Given the description of an element on the screen output the (x, y) to click on. 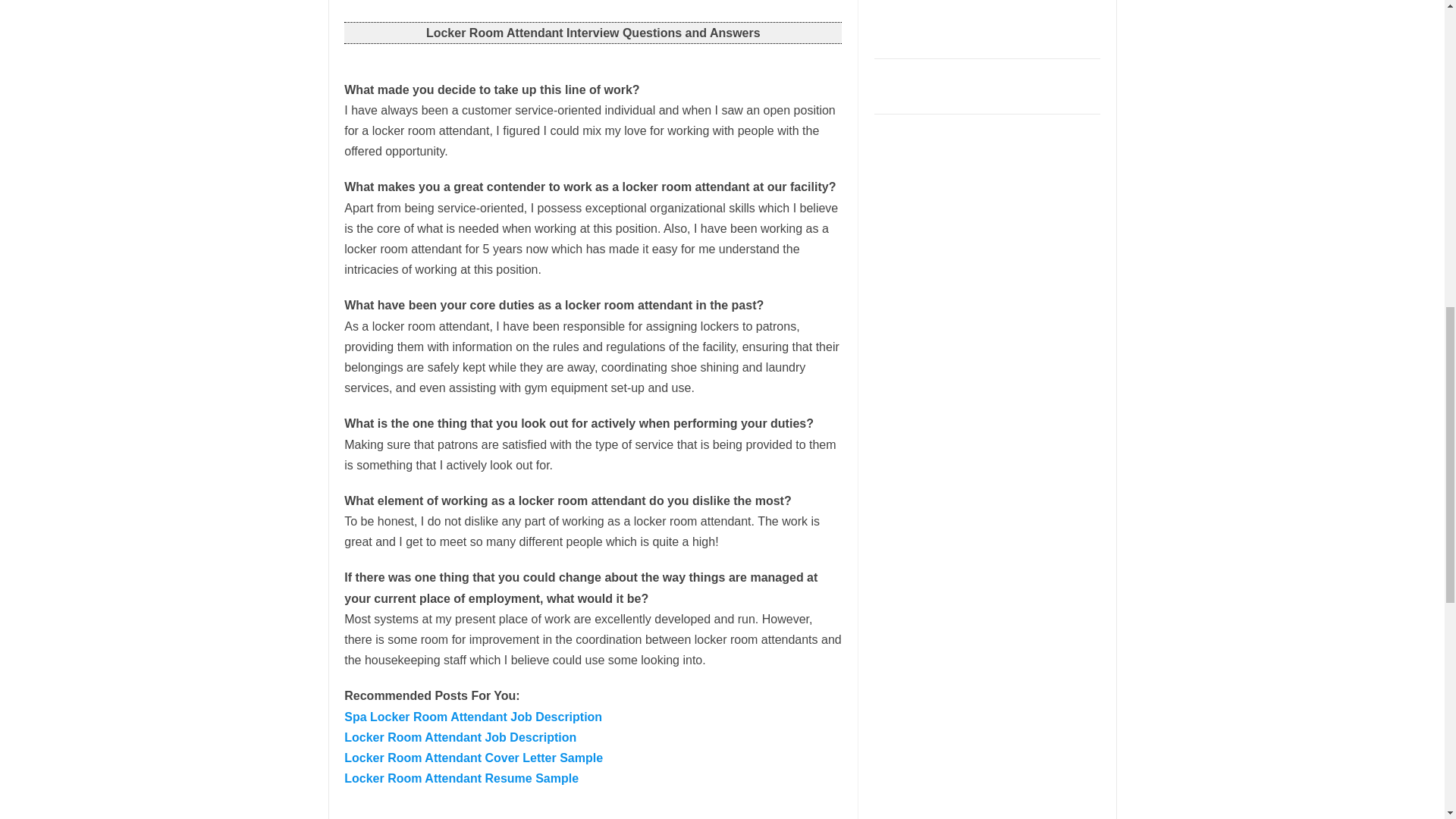
Spa Locker Room Attendant Job Description (472, 716)
Locker Room Attendant Job Description (459, 737)
Locker Room Attendant Job Description (459, 737)
Locker Room Attendant Cover Letter Sample (472, 757)
Spa Locker Room Attendant Job Description (472, 716)
Advertisement (988, 24)
Locker Room Attendant Resume Sample (460, 778)
Locker Room Attendant Resume Sample (460, 778)
Locker Room Attendant Cover Letter Sample (472, 757)
